Given the description of an element on the screen output the (x, y) to click on. 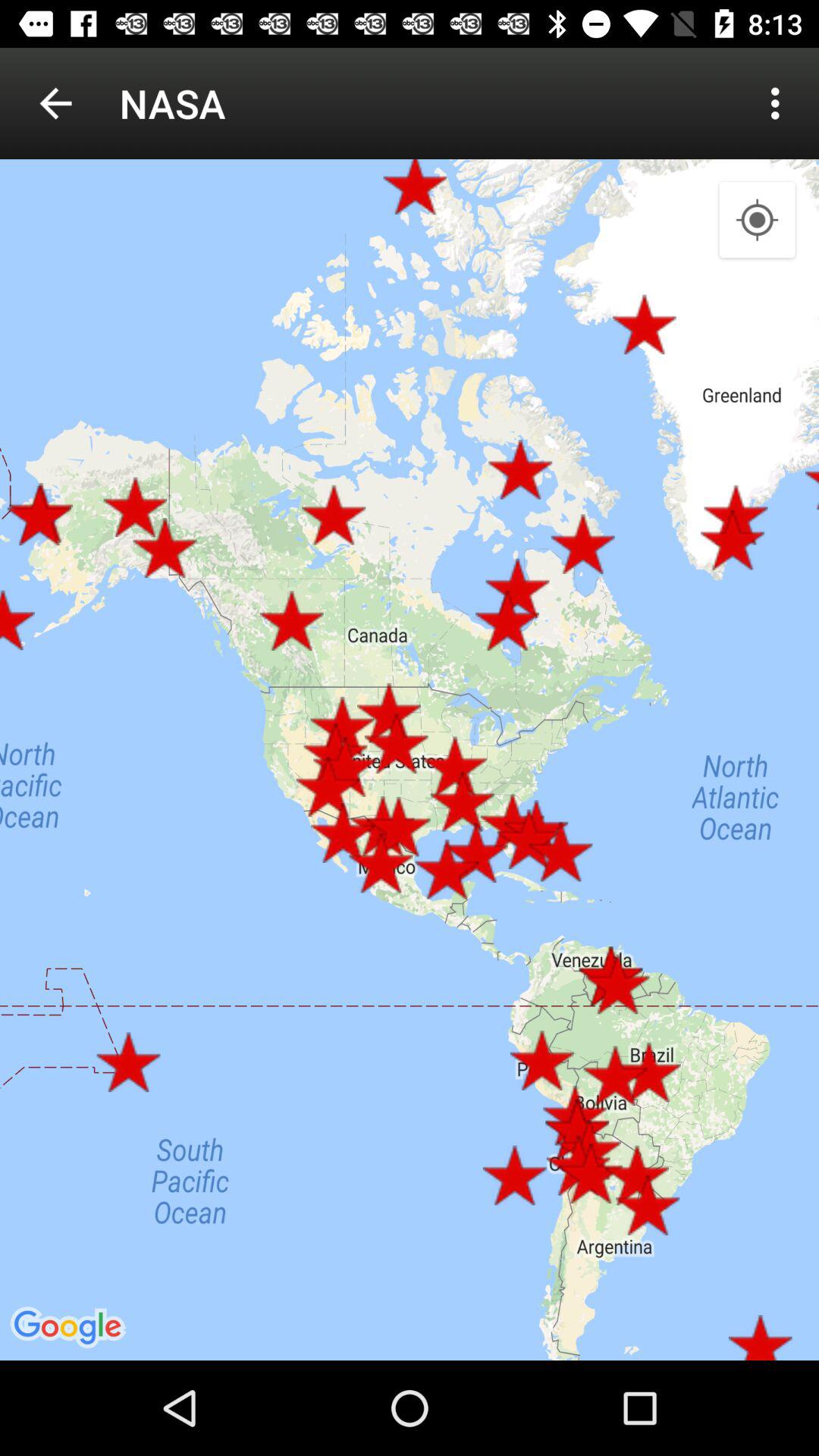
click item next to nasa icon (779, 103)
